Given the description of an element on the screen output the (x, y) to click on. 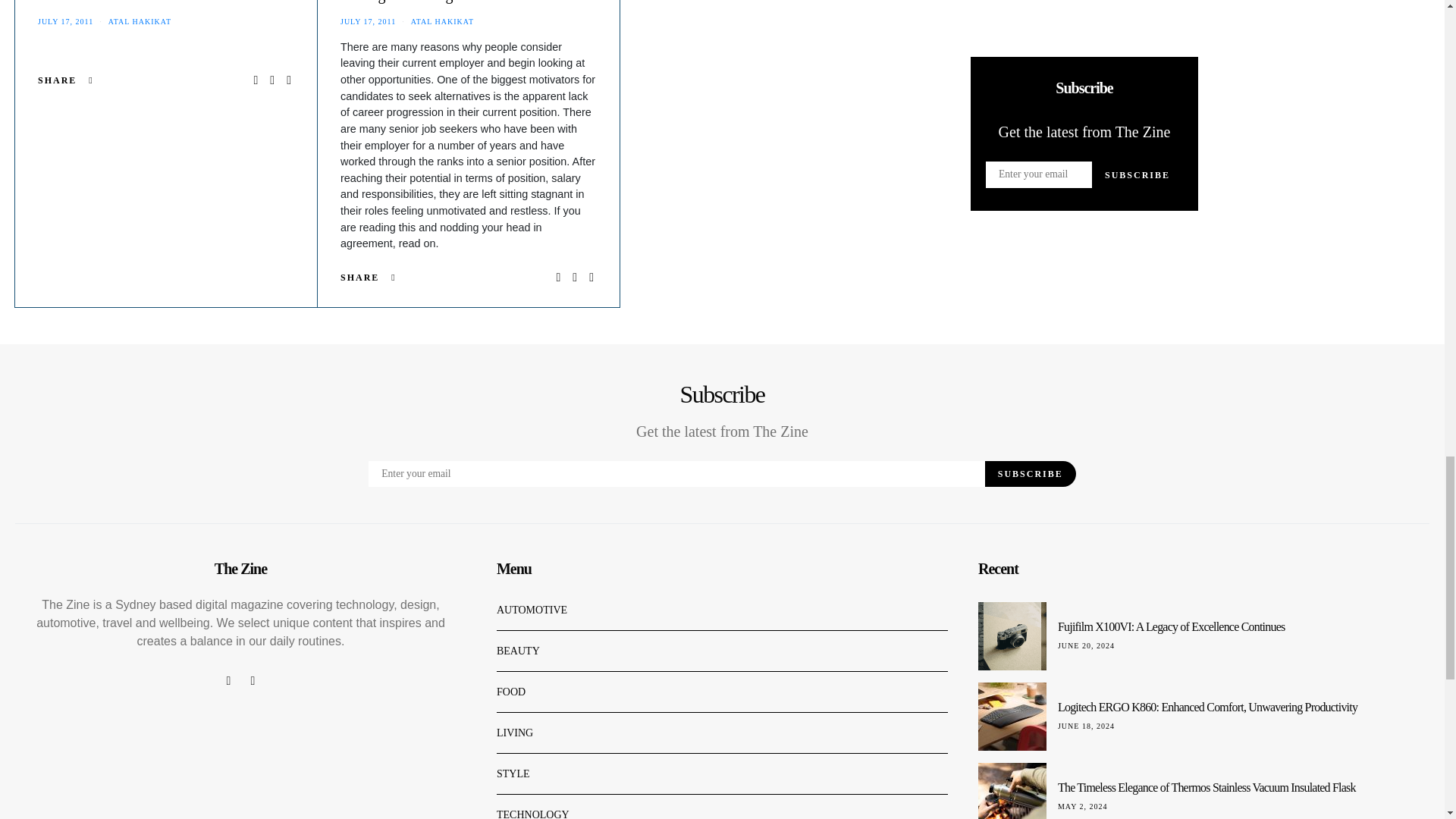
View all posts by Atal Hakikat (139, 21)
View all posts by Atal Hakikat (442, 21)
